Given the description of an element on the screen output the (x, y) to click on. 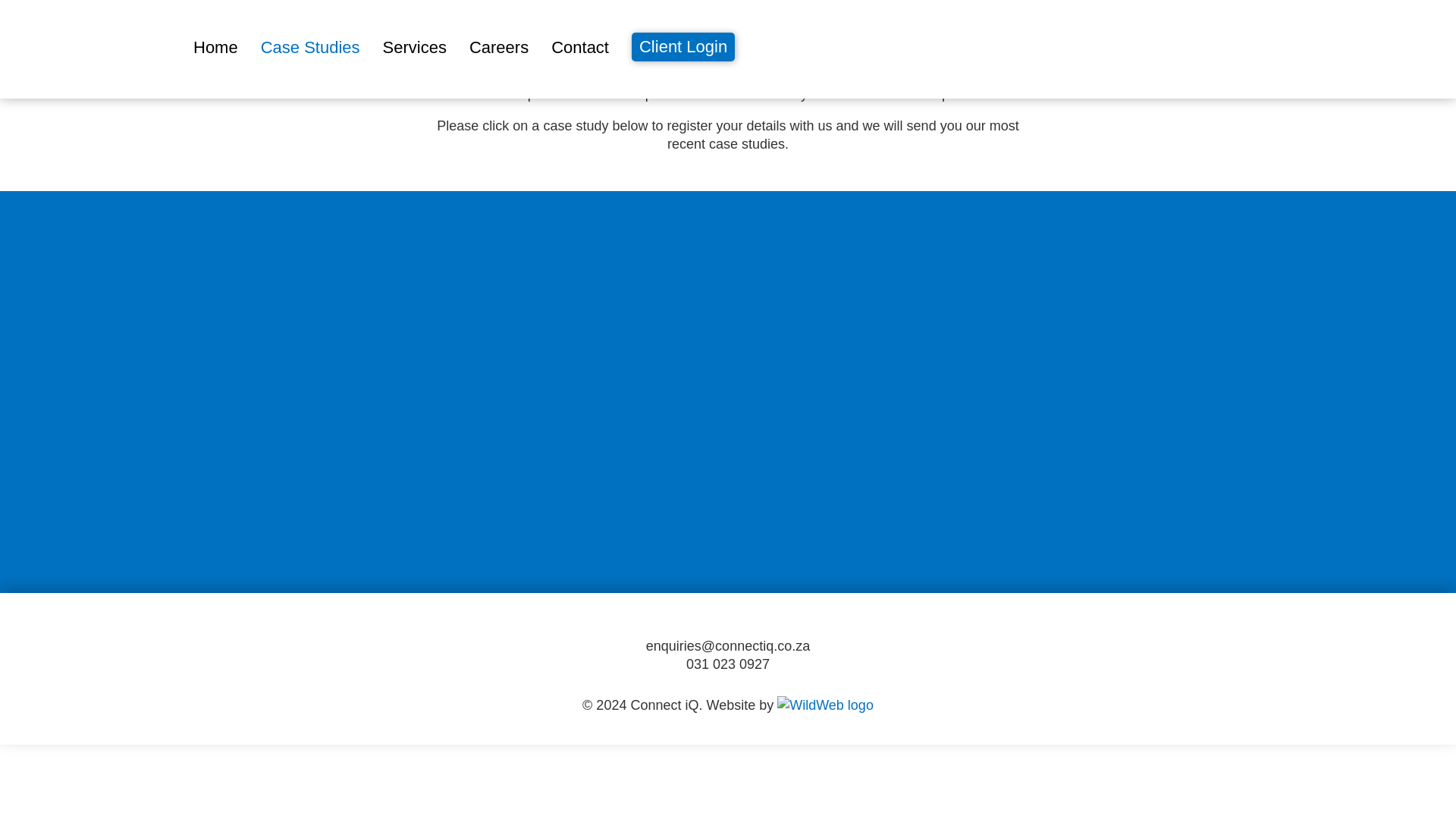
Case Studies (309, 47)
031 023 0927 (727, 663)
Services (414, 47)
Submit details (788, 418)
Home (215, 47)
Connect iQ (91, 49)
Connect iQ (91, 49)
Careers (498, 47)
Client Login (683, 46)
Contact (579, 47)
